Given the description of an element on the screen output the (x, y) to click on. 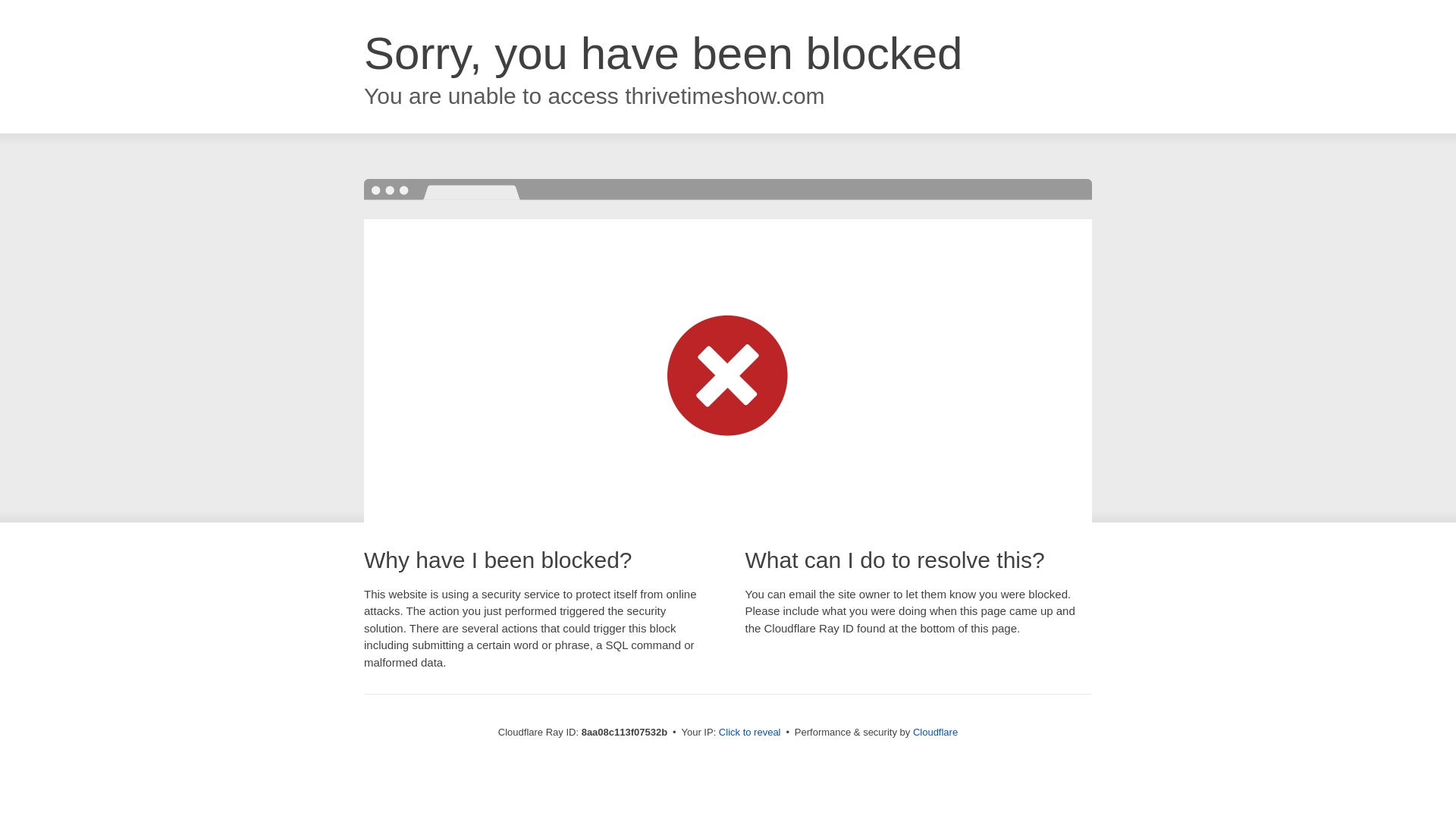
Click to reveal (749, 732)
Cloudflare (935, 731)
